Given the description of an element on the screen output the (x, y) to click on. 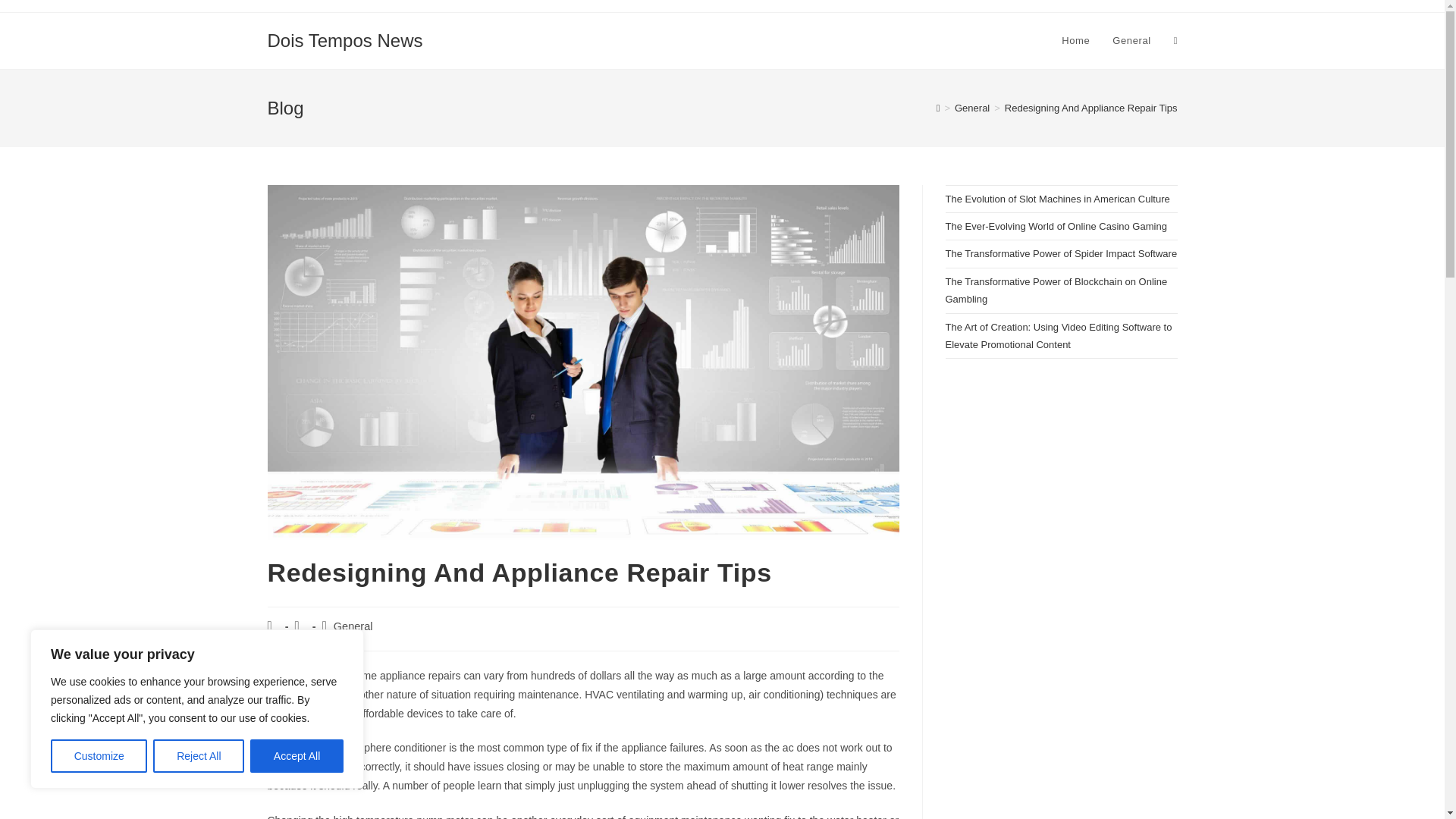
Toggle website search (1175, 40)
Dois Tempos News (344, 40)
Accept All (296, 756)
General (352, 625)
Home (1074, 40)
Reject All (198, 756)
Customize (98, 756)
General (1130, 40)
Redesigning And Appliance Repair Tips (1090, 107)
General (972, 107)
